Given the description of an element on the screen output the (x, y) to click on. 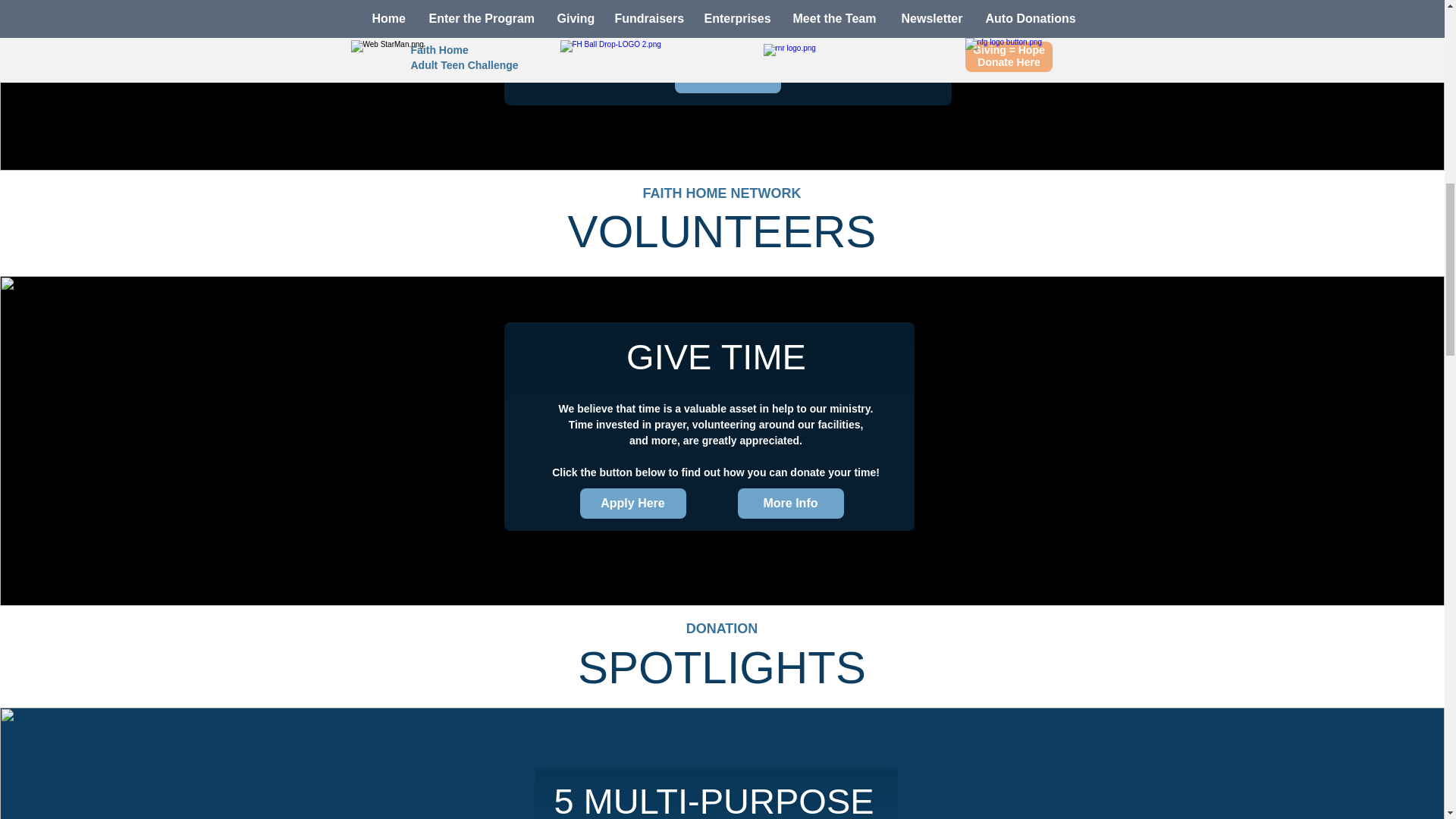
More Info (789, 503)
Apply Here (632, 503)
More Info (727, 78)
